Given the description of an element on the screen output the (x, y) to click on. 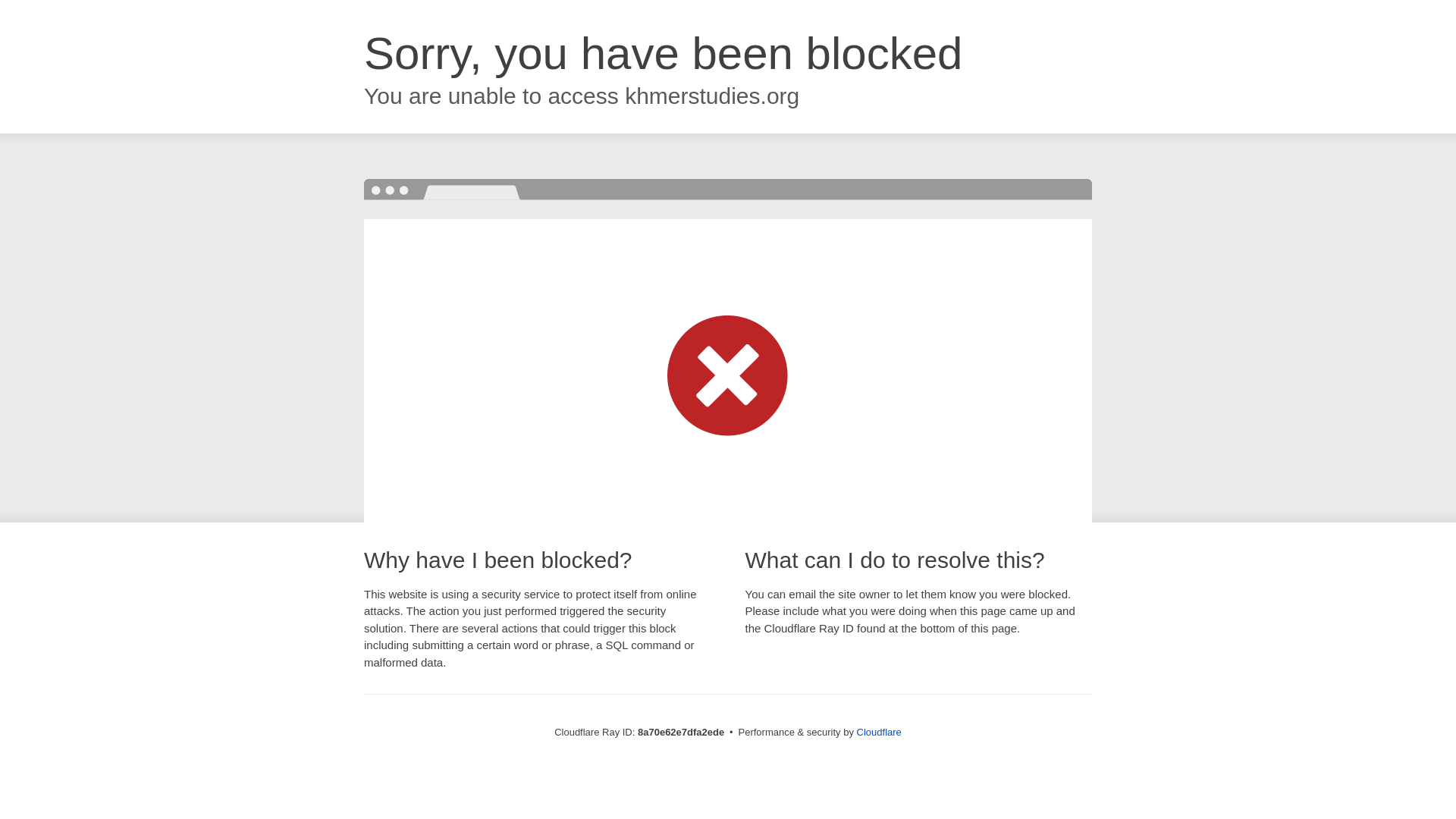
Cloudflare (879, 731)
